Given the description of an element on the screen output the (x, y) to click on. 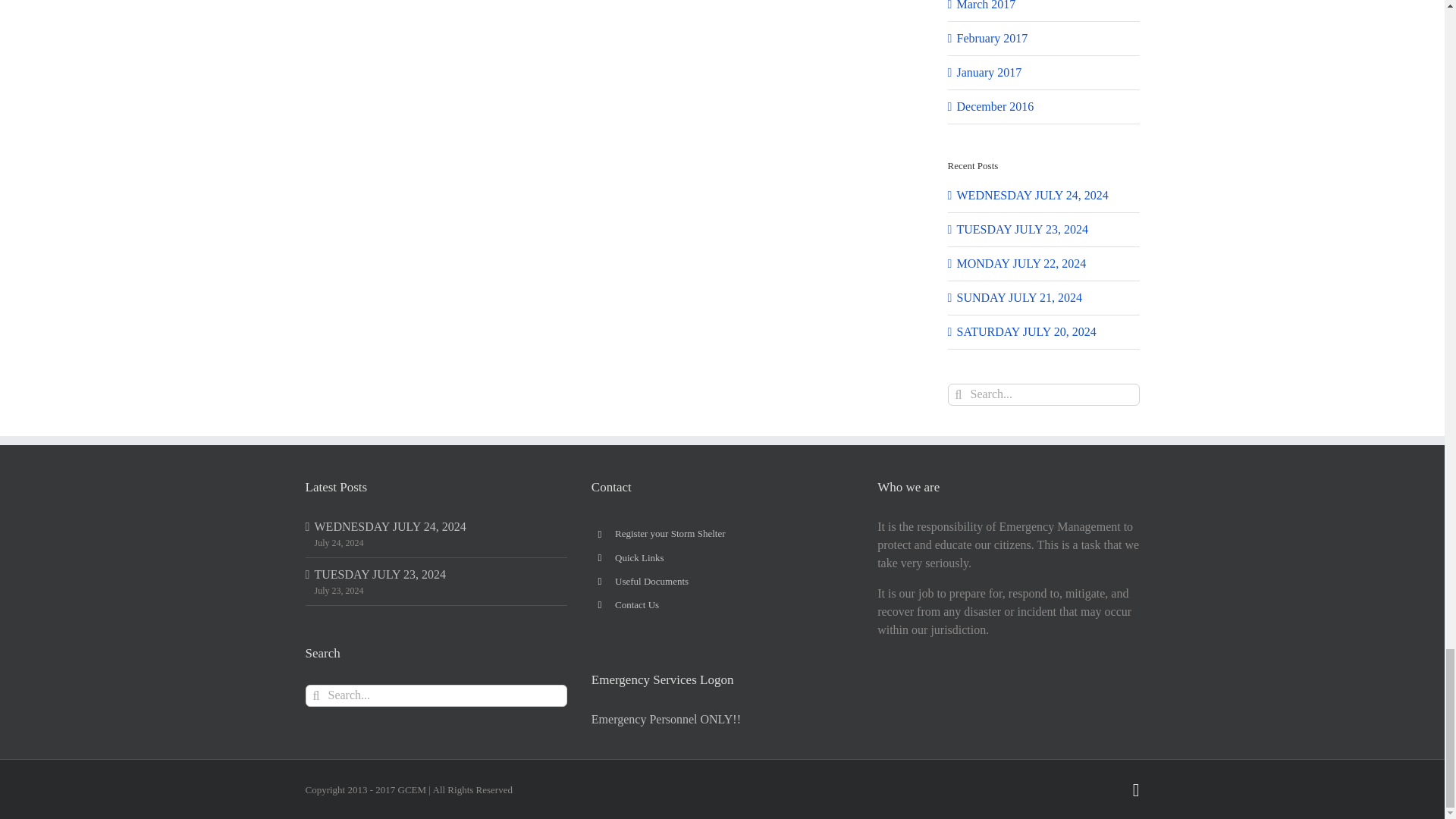
Facebook (1136, 790)
